Given the description of an element on the screen output the (x, y) to click on. 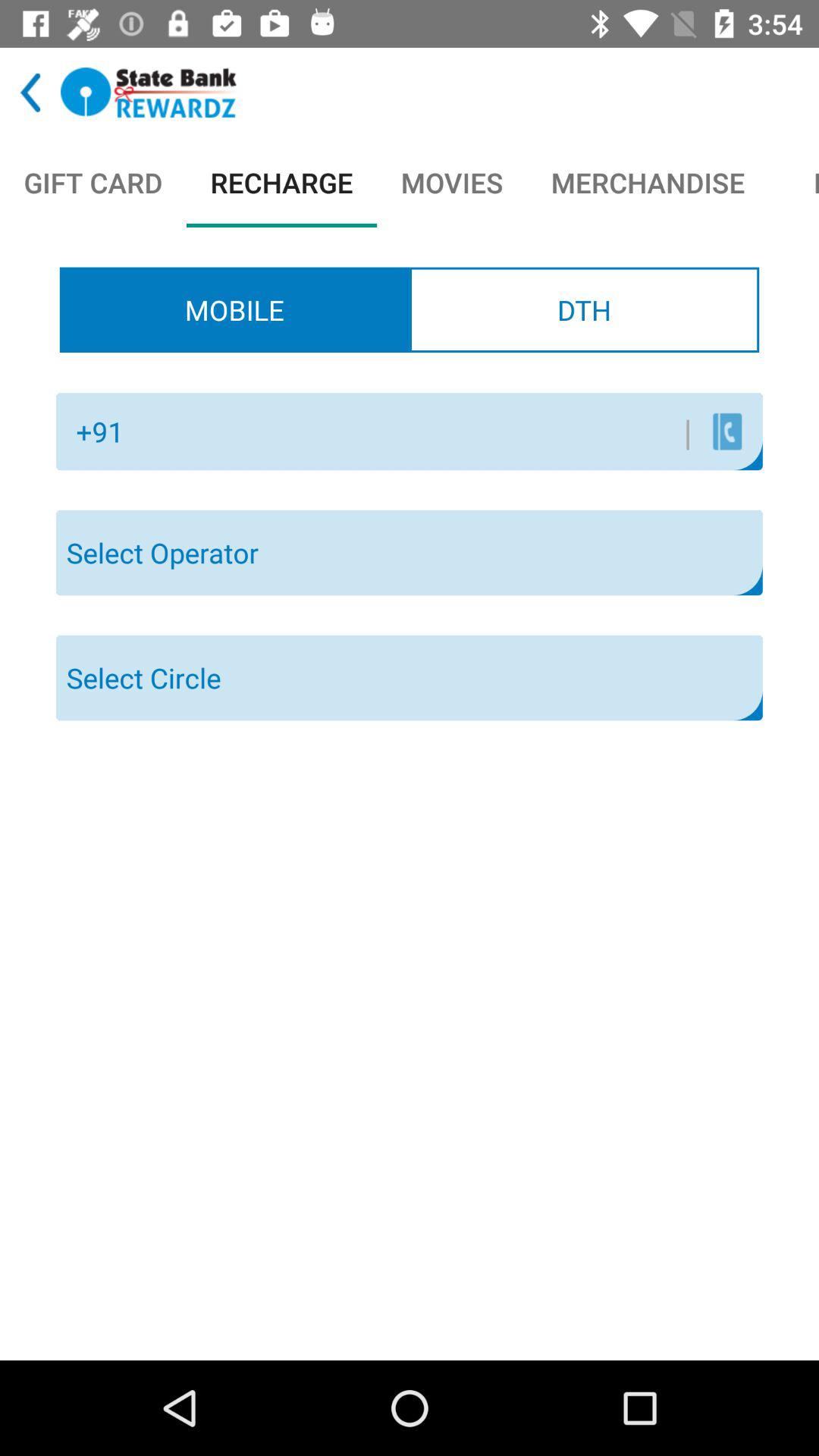
select icon next to +91 (413, 431)
